Given the description of an element on the screen output the (x, y) to click on. 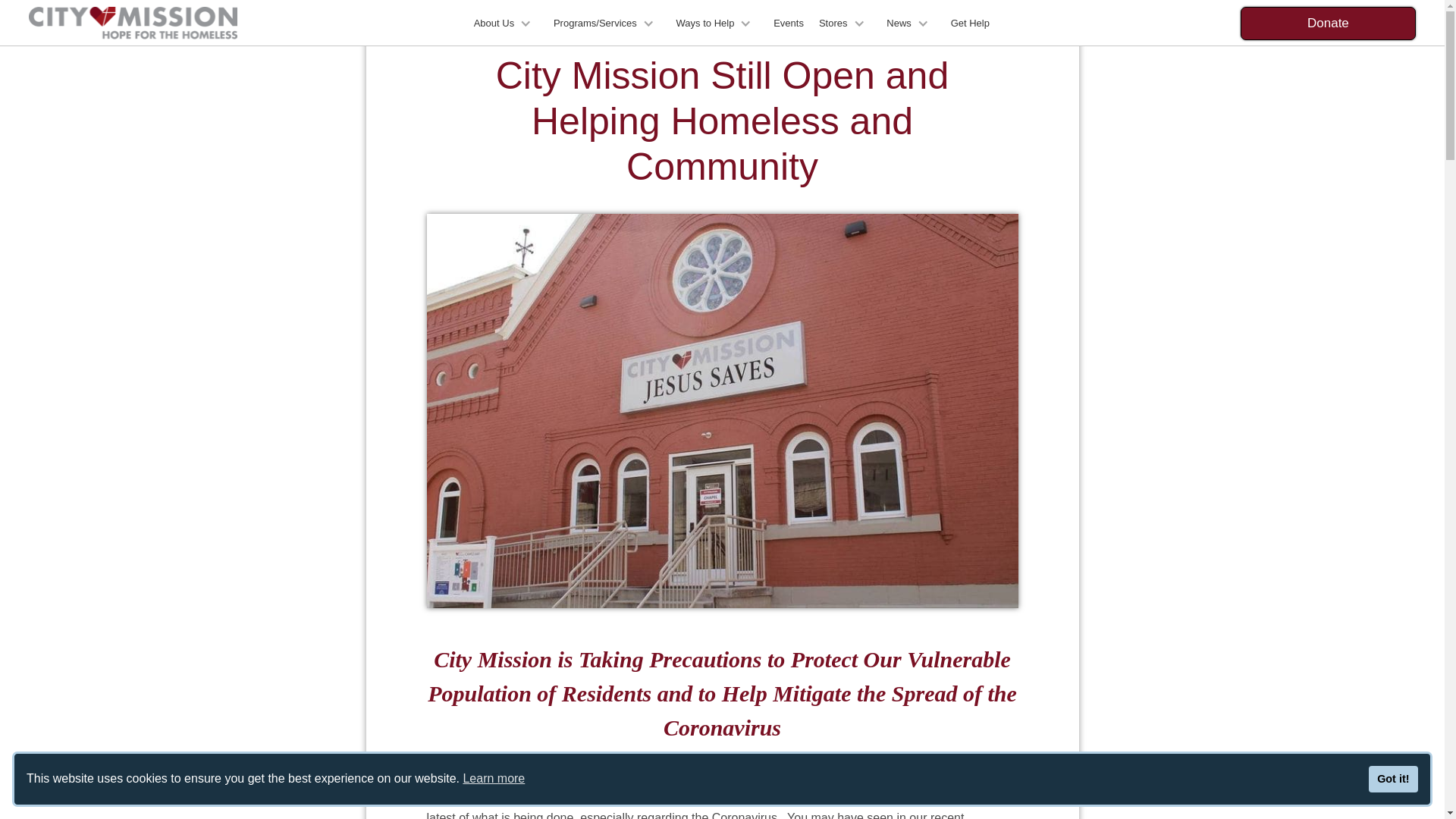
Got it! (1393, 779)
Learn more (493, 778)
City Mission (750, 771)
Get Help (970, 23)
Donate (1327, 22)
Events (787, 23)
